Given the description of an element on the screen output the (x, y) to click on. 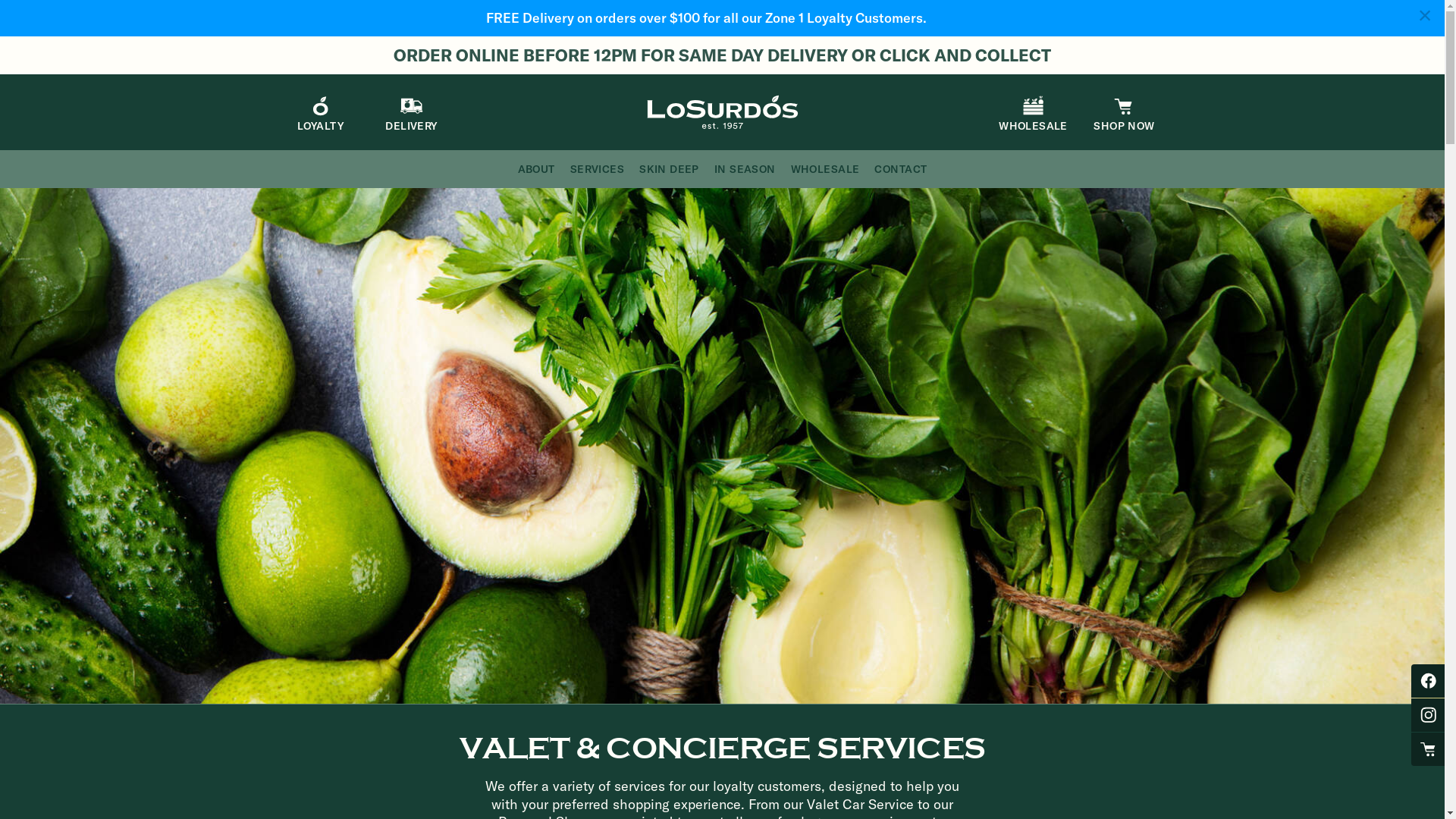
CONTACT Element type: text (900, 169)
SHOP NOW Element type: text (1123, 113)
Losurdos Instagram Element type: hover (1431, 714)
DELIVERY Element type: text (410, 113)
WHOLESALE Element type: text (1032, 113)
WHOLESALE Element type: text (825, 169)
SKIN DEEP Element type: text (668, 169)
ABOUT Element type: text (536, 169)
Shop now at Losurdos Element type: hover (1431, 748)
IN SEASON Element type: text (744, 169)
SERVICES Element type: text (596, 169)
LOYALTY Element type: text (319, 113)
Losurdos Facebook Element type: hover (1431, 680)
